Given the description of an element on the screen output the (x, y) to click on. 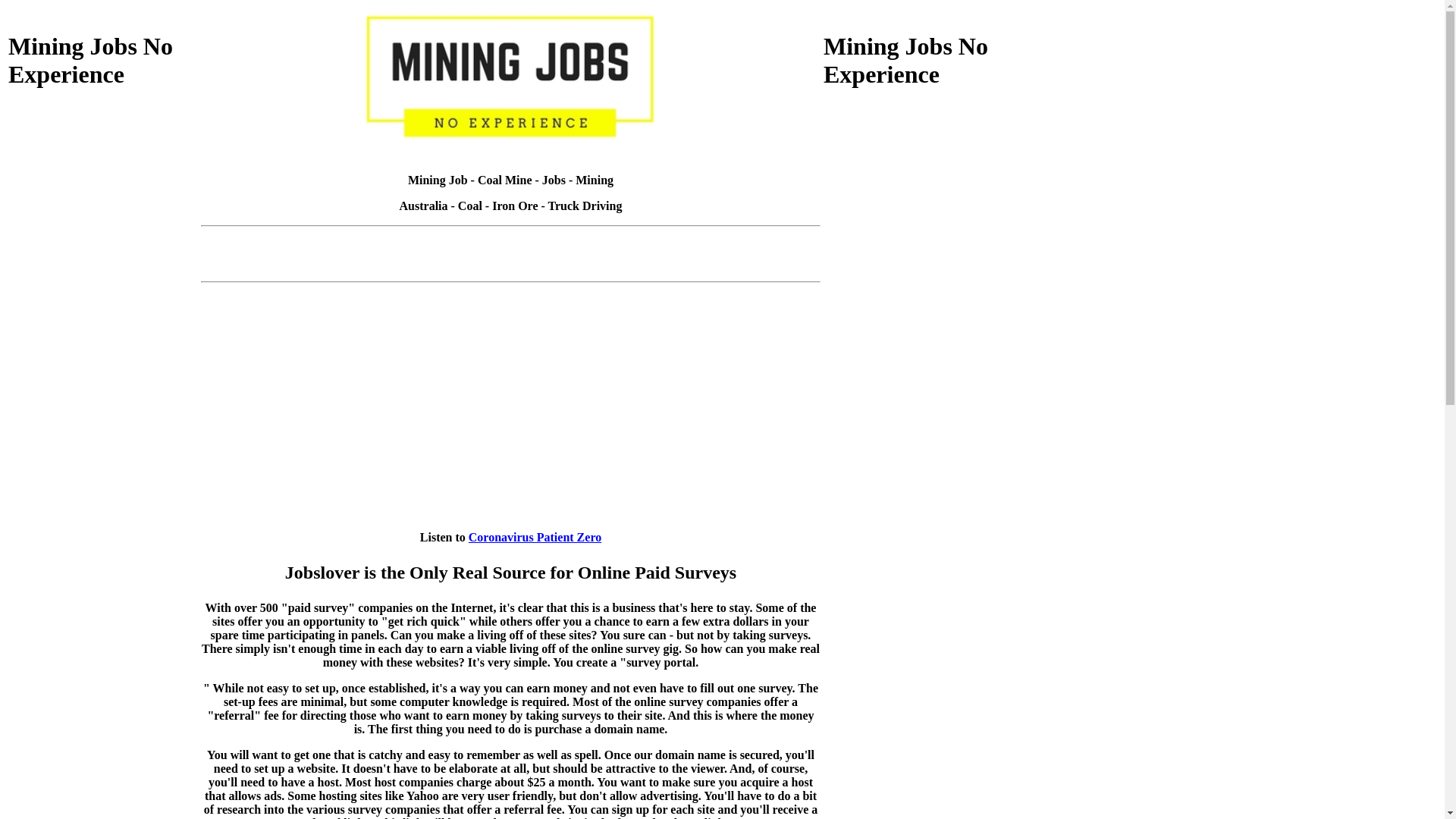
Advertisement Element type: hover (511, 238)
Coal Mine Element type: text (504, 179)
Coronavirus Patient Zero Element type: text (534, 536)
Advertisement Element type: hover (918, 413)
Truck Driving Element type: text (585, 205)
Advertisement Element type: hover (918, 207)
Jobs Element type: text (553, 179)
Advertisement Element type: hover (918, 620)
Iron Ore Element type: text (514, 205)
Advertisement Element type: hover (102, 413)
Coal Element type: text (470, 205)
Mining Element type: text (594, 179)
Advertisement Element type: hover (511, 266)
Australia Element type: text (423, 205)
Advertisement Element type: hover (102, 207)
Mining Job Element type: text (437, 179)
Advertisement Element type: hover (102, 620)
